Given the description of an element on the screen output the (x, y) to click on. 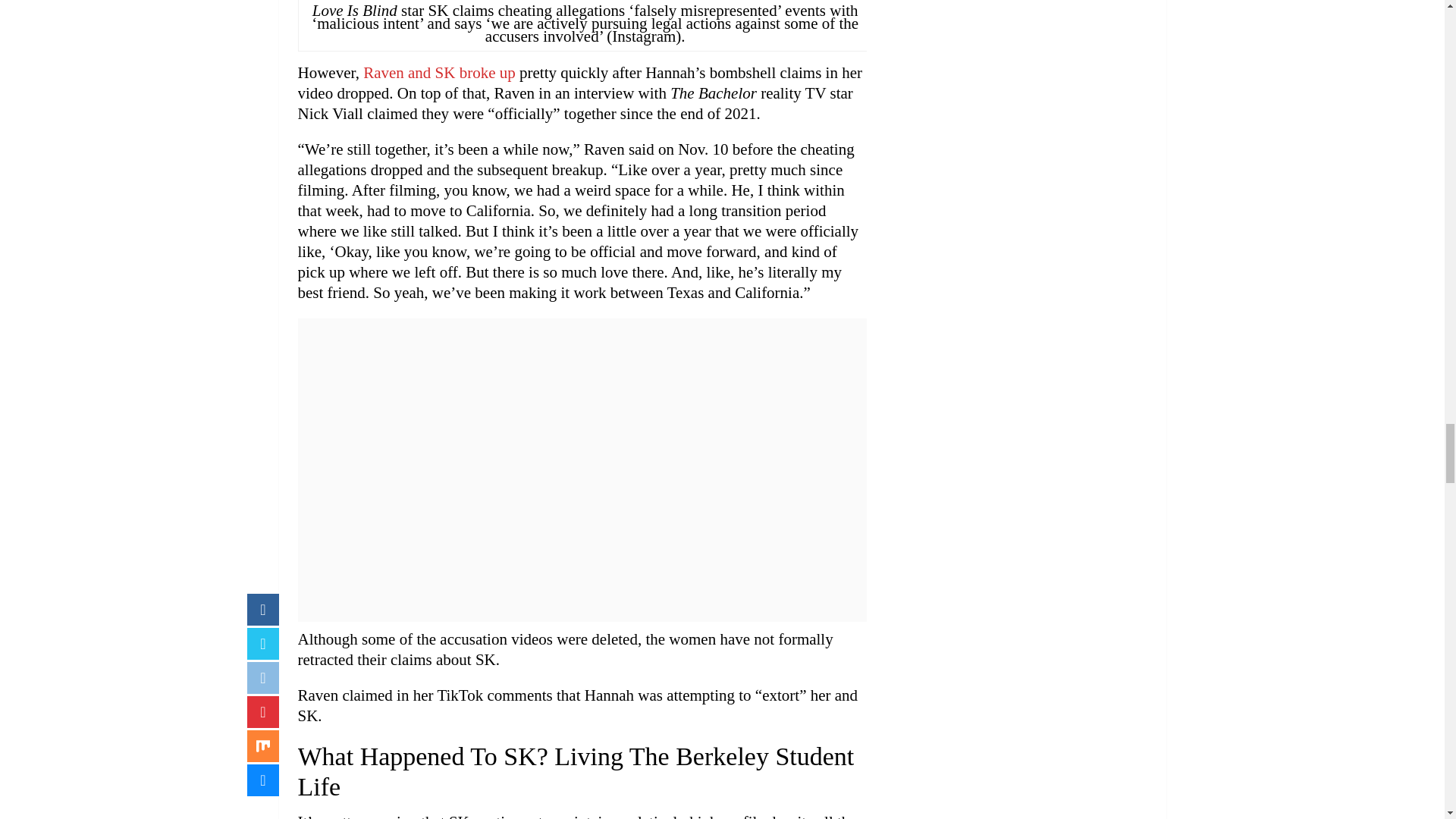
Raven and SK broke up (438, 72)
